Given the description of an element on the screen output the (x, y) to click on. 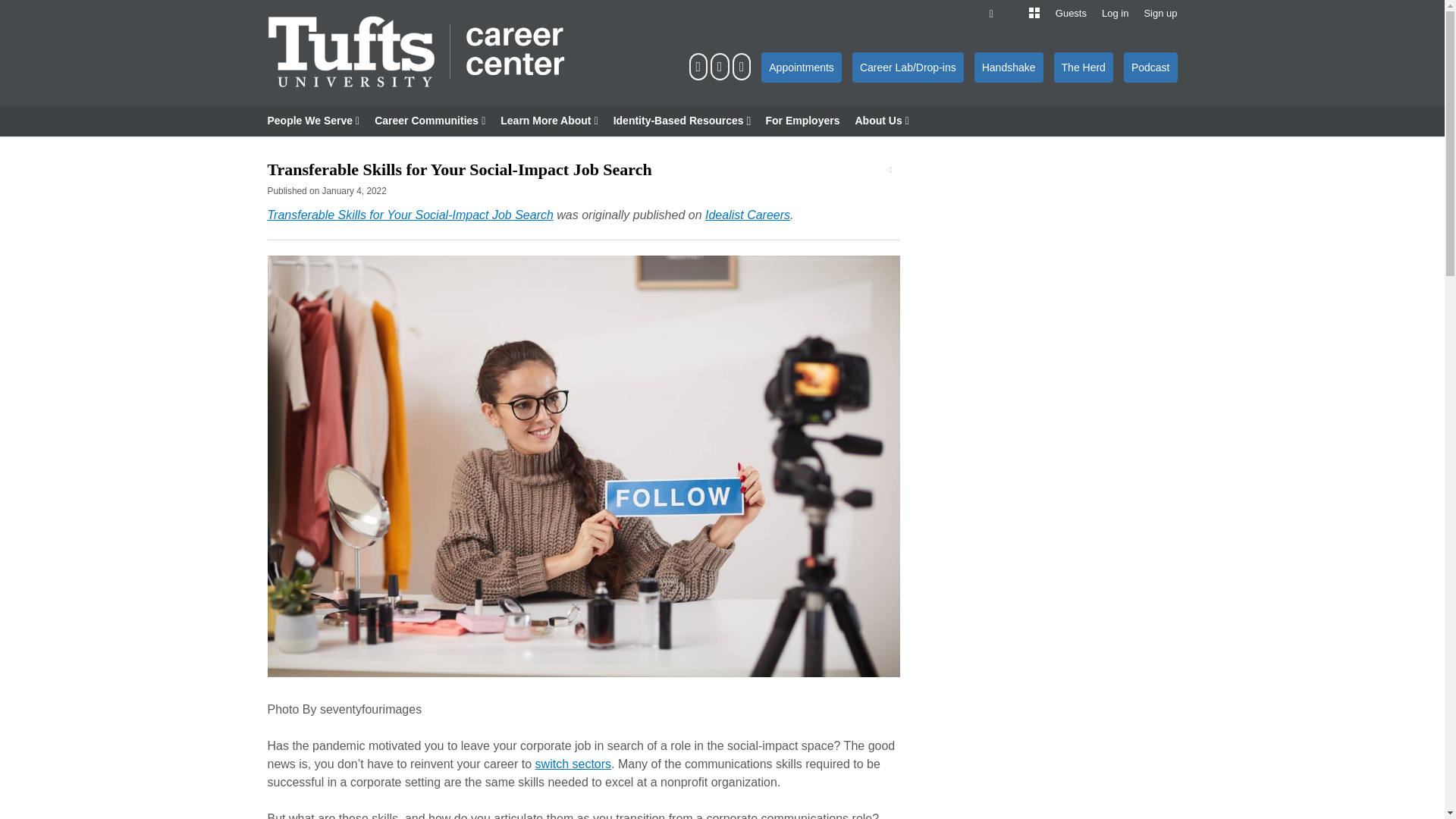
Podcast (1150, 67)
Guests (1070, 13)
Sign up for an account (1159, 13)
Log in (1115, 13)
Career Communities (429, 120)
Sign up (1159, 13)
Log in to the guest contributors portal (1070, 13)
People We Serve (312, 120)
Learn More About (549, 120)
The Herd (1083, 67)
Appointments (801, 67)
Handshake (1008, 67)
Submit Search (38, 9)
